Given the description of an element on the screen output the (x, y) to click on. 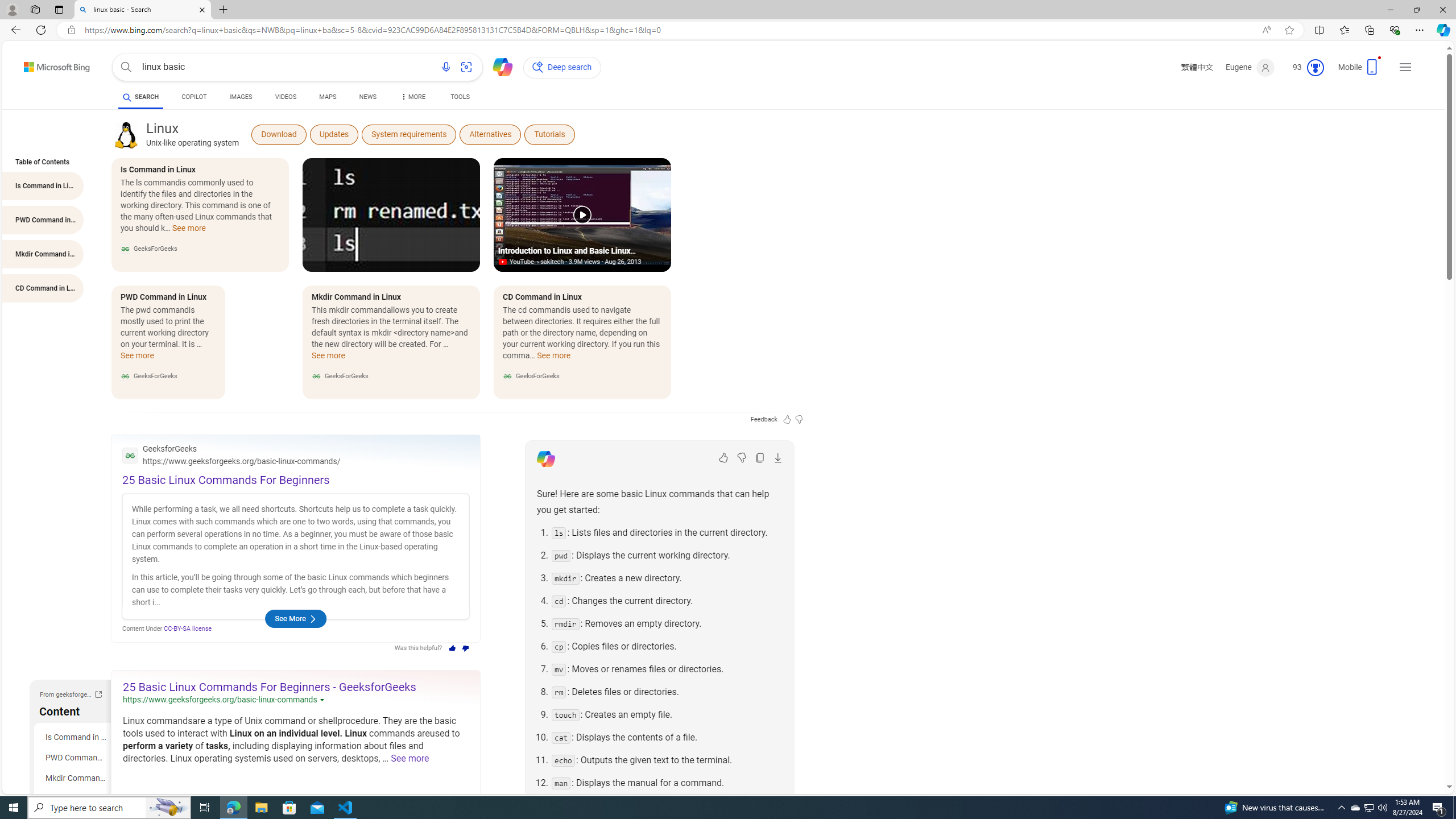
touch: Creates an empty file. (666, 714)
ls: Lists files and directories in the current directory. (666, 532)
VIDEOS (285, 96)
Feedback Like (786, 418)
MAPS (327, 96)
MAPS (327, 98)
VIDEOS (285, 98)
SEARCH (140, 96)
From geeksforgeeks.org (97, 696)
